Given the description of an element on the screen output the (x, y) to click on. 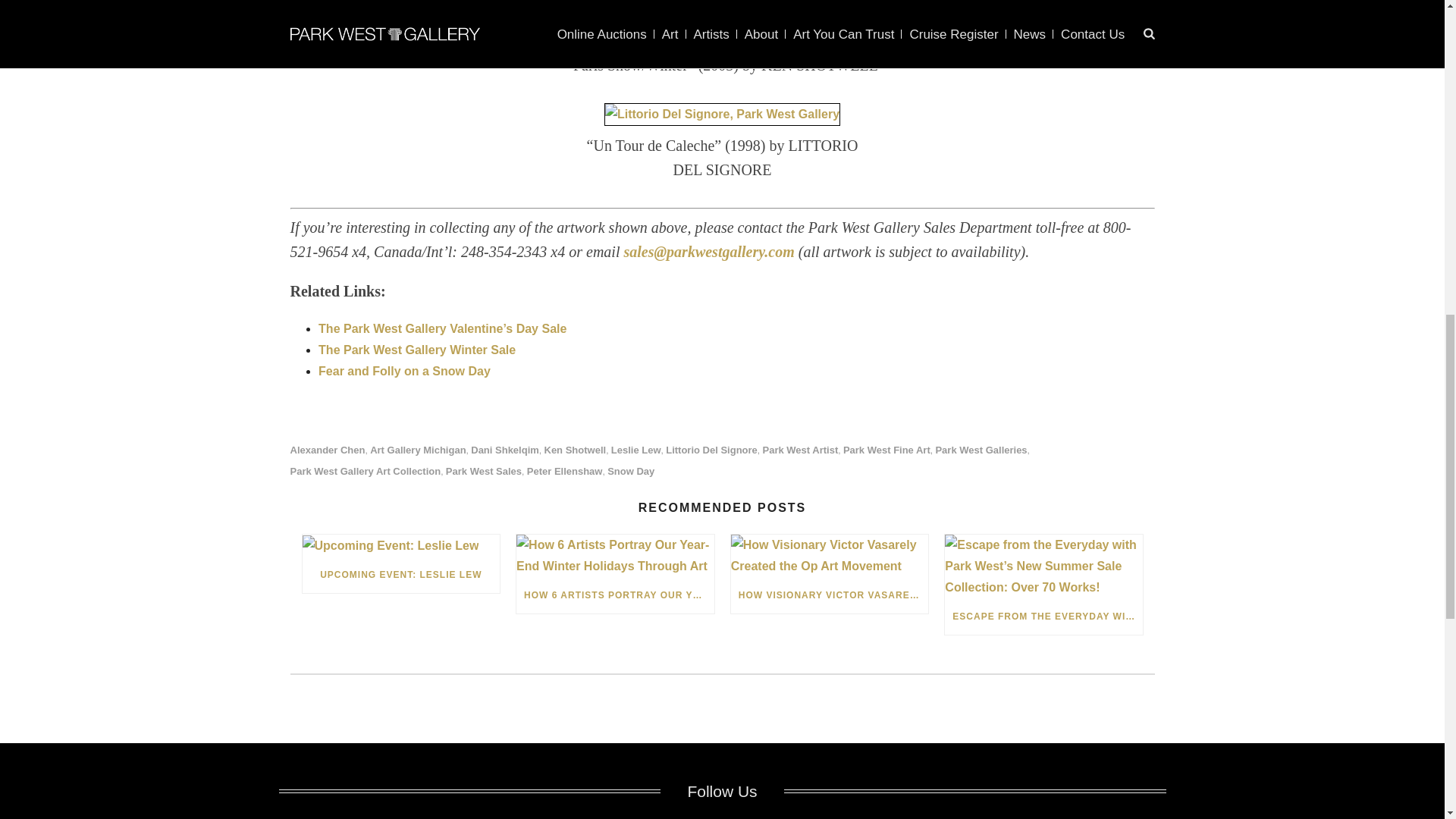
Permalink to The Park West Gallery Winter Sale (416, 349)
Upcoming Event: Leslie Lew (400, 545)
